Given the description of an element on the screen output the (x, y) to click on. 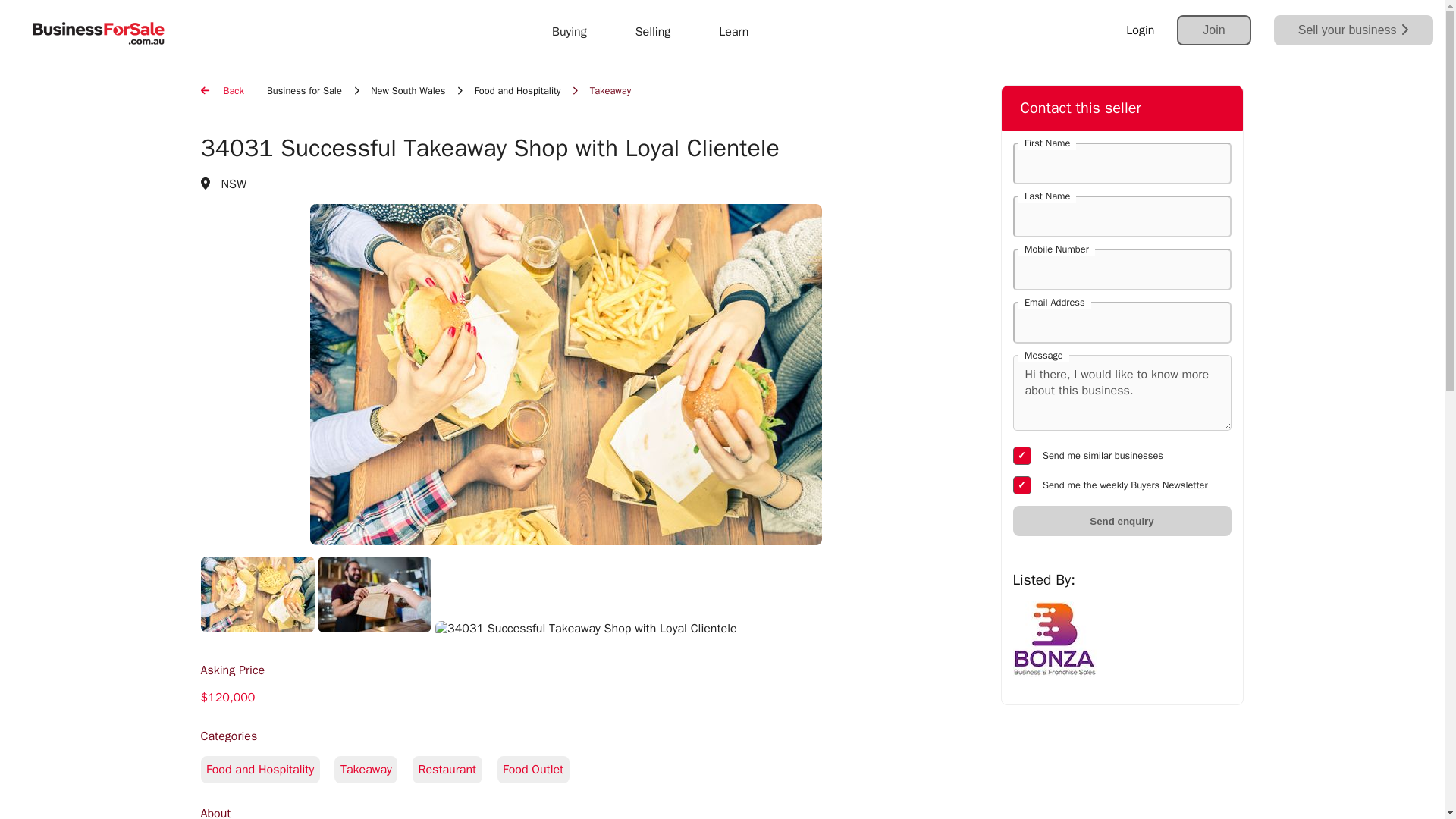
Sell your business (1353, 30)
Business for Sale (304, 91)
Takeaway (373, 768)
Login (1139, 30)
Food and Hospitality (517, 91)
New South Wales (408, 91)
Back (221, 91)
Restaurant (454, 768)
Join (1213, 30)
Send enquiry (1122, 521)
Food and Hospitality (565, 785)
Food Outlet (538, 768)
